Given the description of an element on the screen output the (x, y) to click on. 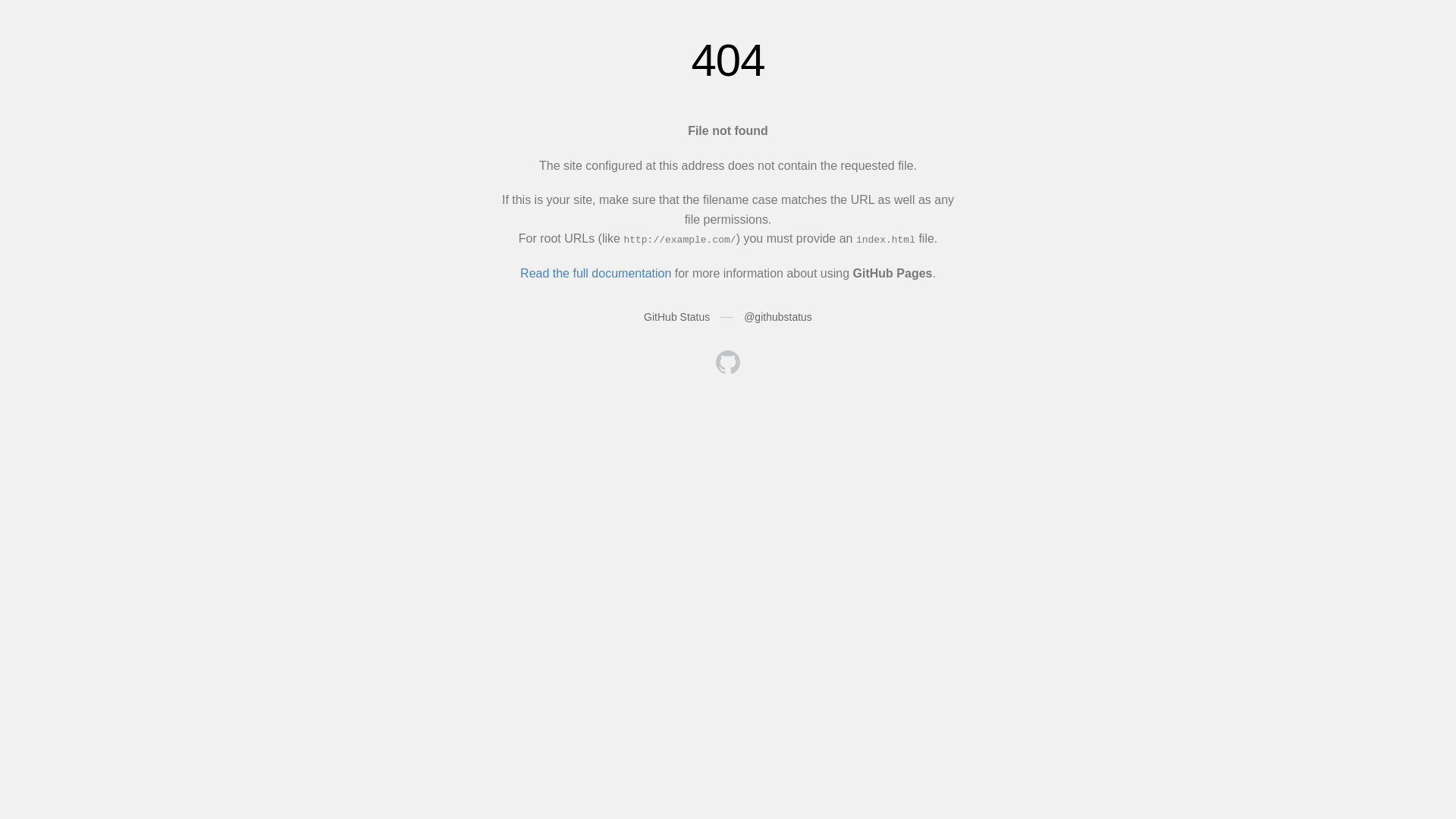
GitHub Status Element type: text (676, 316)
@githubstatus Element type: text (777, 316)
Read the full documentation Element type: text (595, 272)
